Given the description of an element on the screen output the (x, y) to click on. 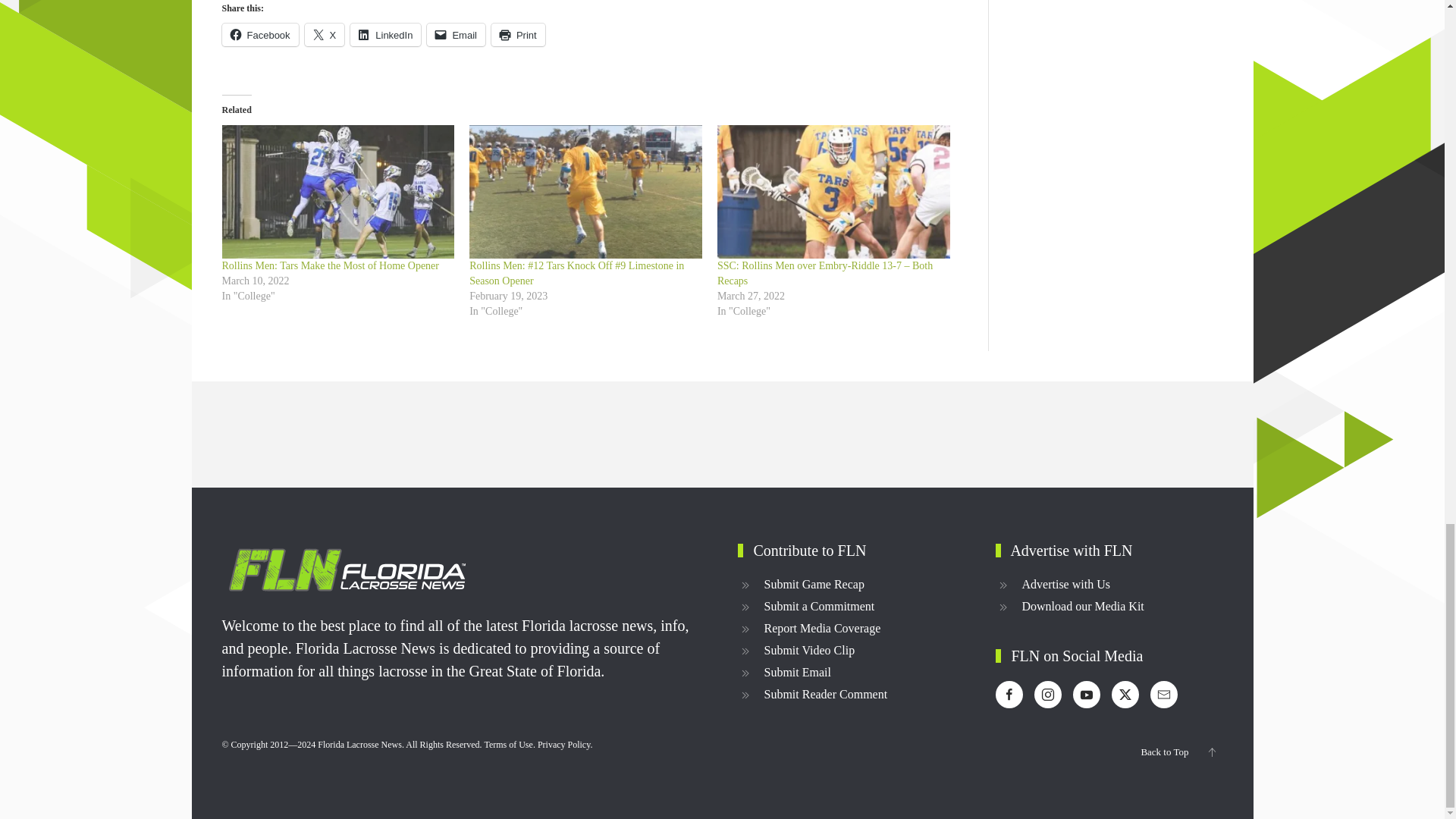
Back To Top (1211, 752)
Click to share on LinkedIn (385, 34)
Click to share on Facebook (259, 34)
Rollins Men: Tars Make the Most of Home Opener (337, 191)
Click to email a link to a friend (455, 34)
Click to share on X (324, 34)
Rollins Men: Tars Make the Most of Home Opener (330, 265)
Click to print (518, 34)
